Given the description of an element on the screen output the (x, y) to click on. 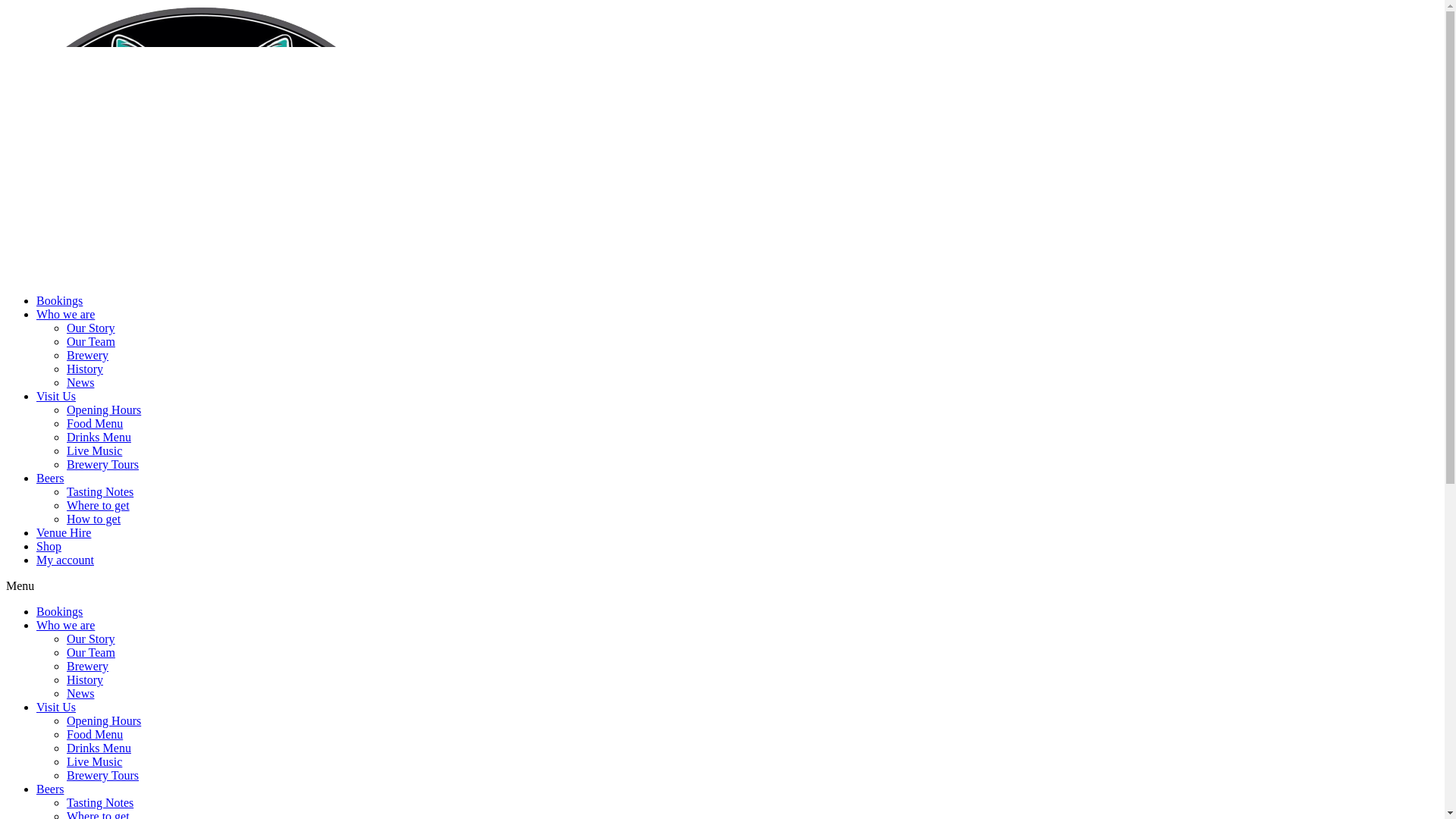
Our Story Element type: text (90, 327)
Bookings Element type: text (59, 300)
Live Music Element type: text (94, 761)
Visit Us Element type: text (55, 706)
Brewery Tours Element type: text (102, 774)
Beers Element type: text (49, 788)
History Element type: text (84, 368)
Opening Hours Element type: text (103, 720)
Who we are Element type: text (65, 624)
Food Menu Element type: text (94, 423)
Beers Element type: text (49, 477)
Brewery Tours Element type: text (102, 464)
Drinks Menu Element type: text (98, 436)
News Element type: text (80, 382)
Who we are Element type: text (65, 313)
Tasting Notes Element type: text (99, 491)
Food Menu Element type: text (94, 734)
Shop Element type: text (48, 545)
Venue Hire Element type: text (63, 532)
Opening Hours Element type: text (103, 409)
Visit Us Element type: text (55, 395)
Brewery Element type: text (87, 354)
How to get Element type: text (93, 518)
Drinks Menu Element type: text (98, 747)
Live Music Element type: text (94, 450)
News Element type: text (80, 693)
History Element type: text (84, 679)
Our Story Element type: text (90, 638)
Our Team Element type: text (90, 341)
Tasting Notes Element type: text (99, 802)
My account Element type: text (65, 559)
Brewery Element type: text (87, 665)
Where to get Element type: text (97, 504)
Our Team Element type: text (90, 652)
Bookings Element type: text (59, 611)
